Given the description of an element on the screen output the (x, y) to click on. 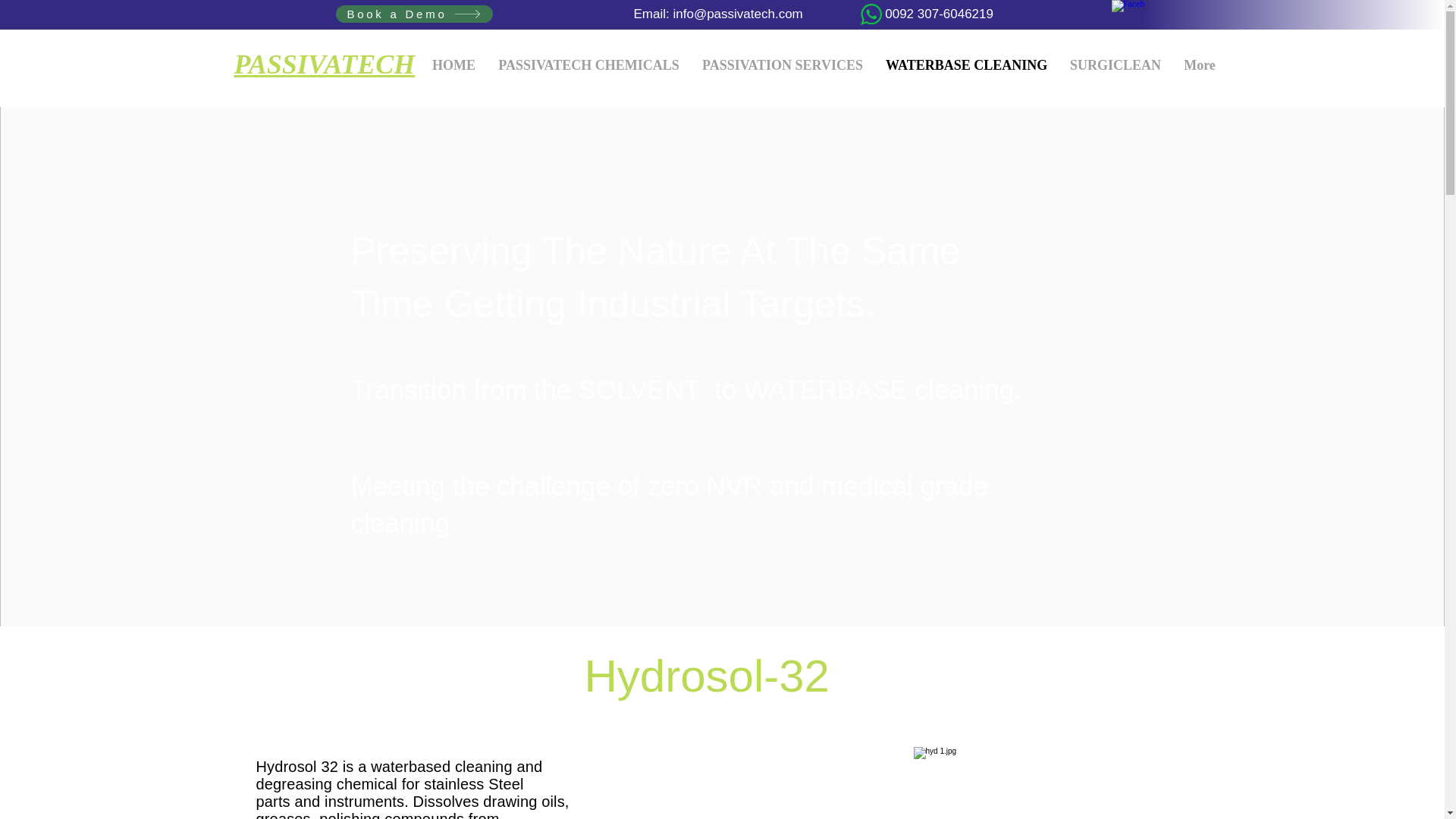
SURGICLEAN (1115, 65)
PASSIVATECH CHEMICALS (588, 65)
PASSIVATION SERVICES (782, 65)
Book a Demo (413, 13)
WATERBASE CLEANING (966, 65)
HOME (453, 65)
